Given the description of an element on the screen output the (x, y) to click on. 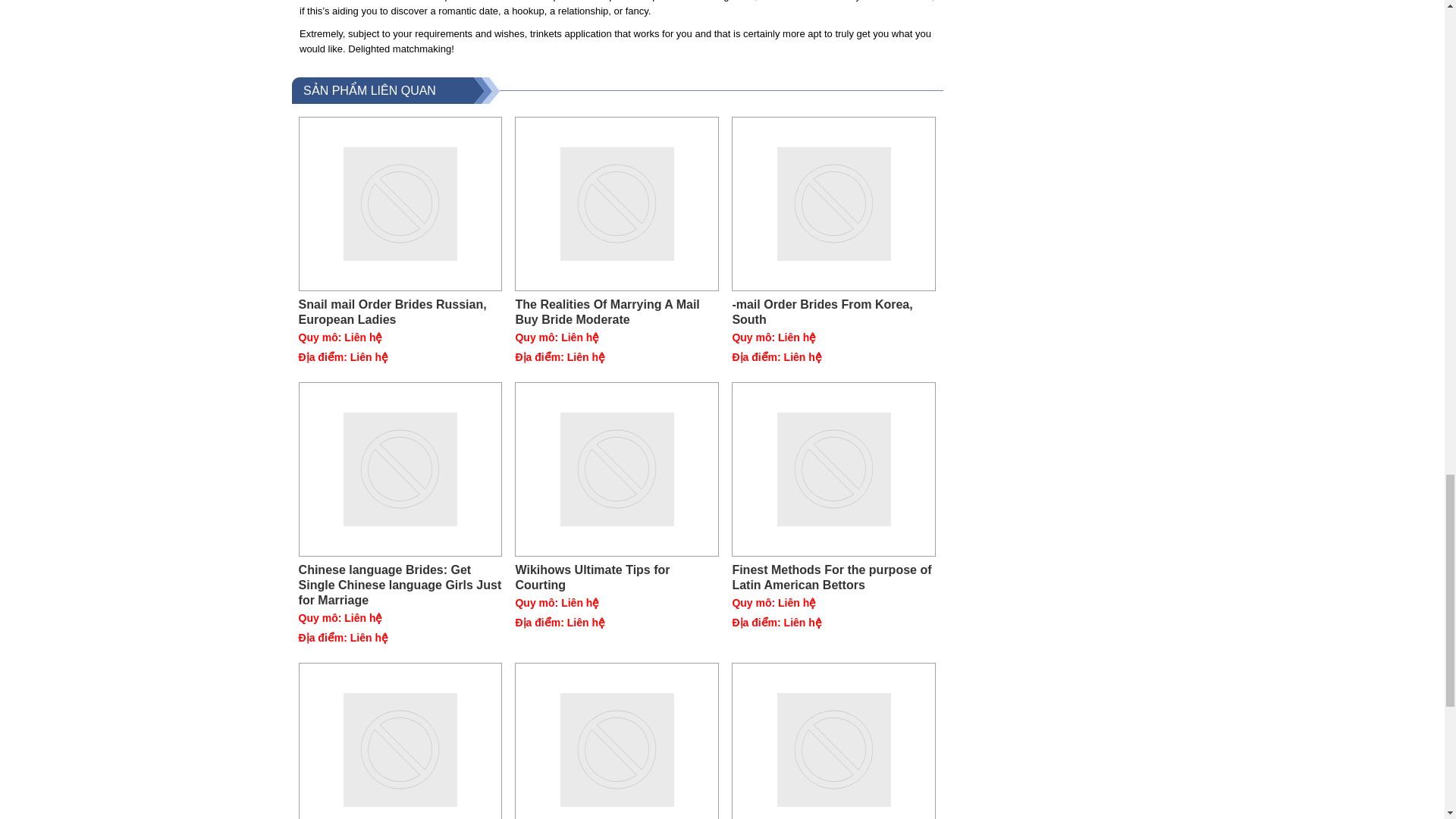
Snail mail Order Brides Russian, European Ladies (400, 312)
Finest Methods For the purpose of Latin American Bettors (834, 577)
-mail Order Brides From Korea, South (834, 312)
Wikihows Ultimate Tips for Courting (617, 469)
Snail mail Order Brides Russian, European Ladies (400, 312)
Wikihows Ultimate Tips for Courting (617, 577)
Wikihows Ultimate Tips for Courting (617, 577)
Finest Methods For the purpose of Latin American Bettors (834, 469)
-mail Order Brides From Korea, South (834, 312)
The Realities Of Marrying A Mail Buy Bride Moderate (617, 204)
The Realities Of Marrying A Mail Buy Bride Moderate (617, 312)
